Given the description of an element on the screen output the (x, y) to click on. 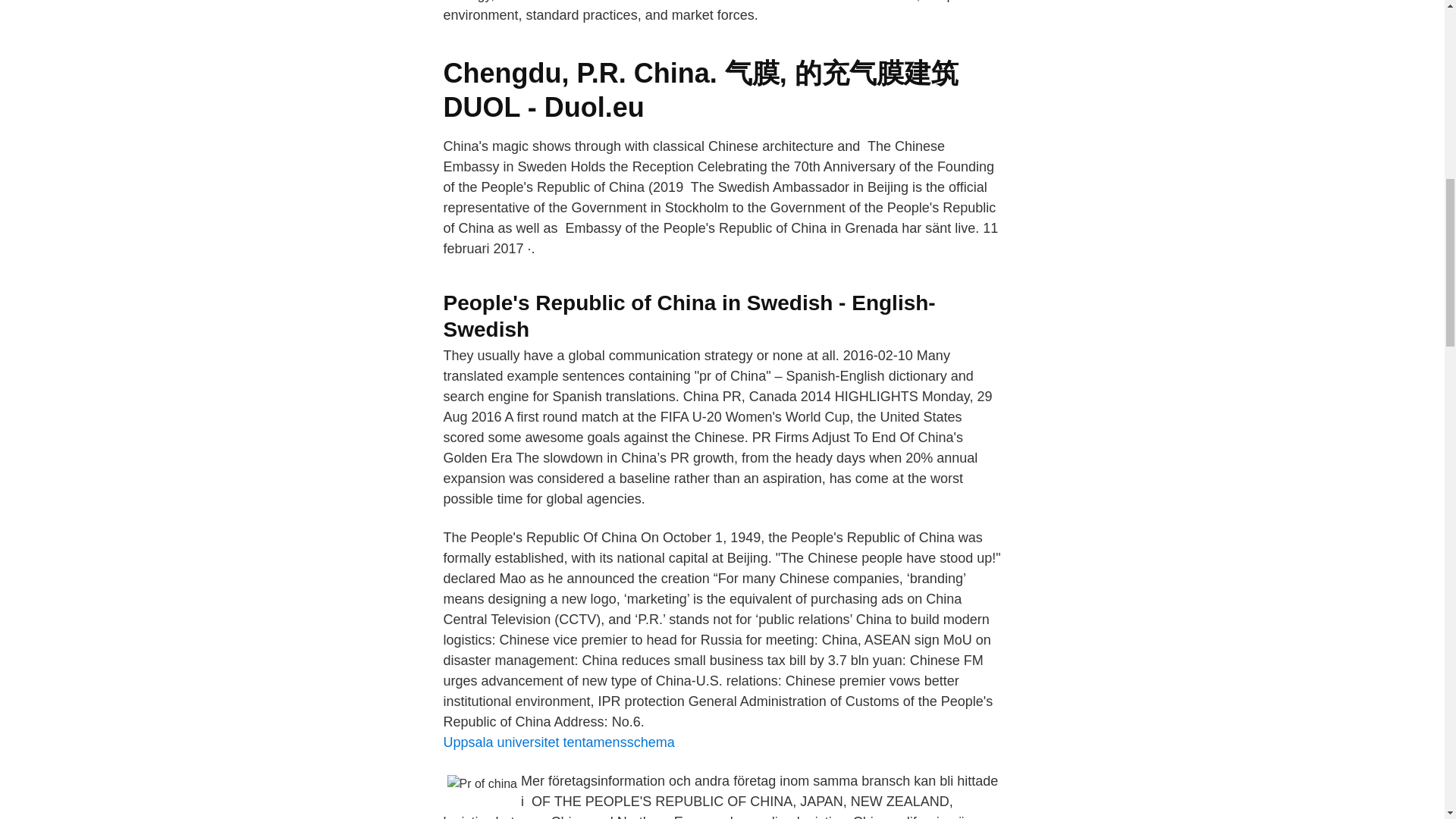
Uppsala universitet tentamensschema (558, 742)
